Given the description of an element on the screen output the (x, y) to click on. 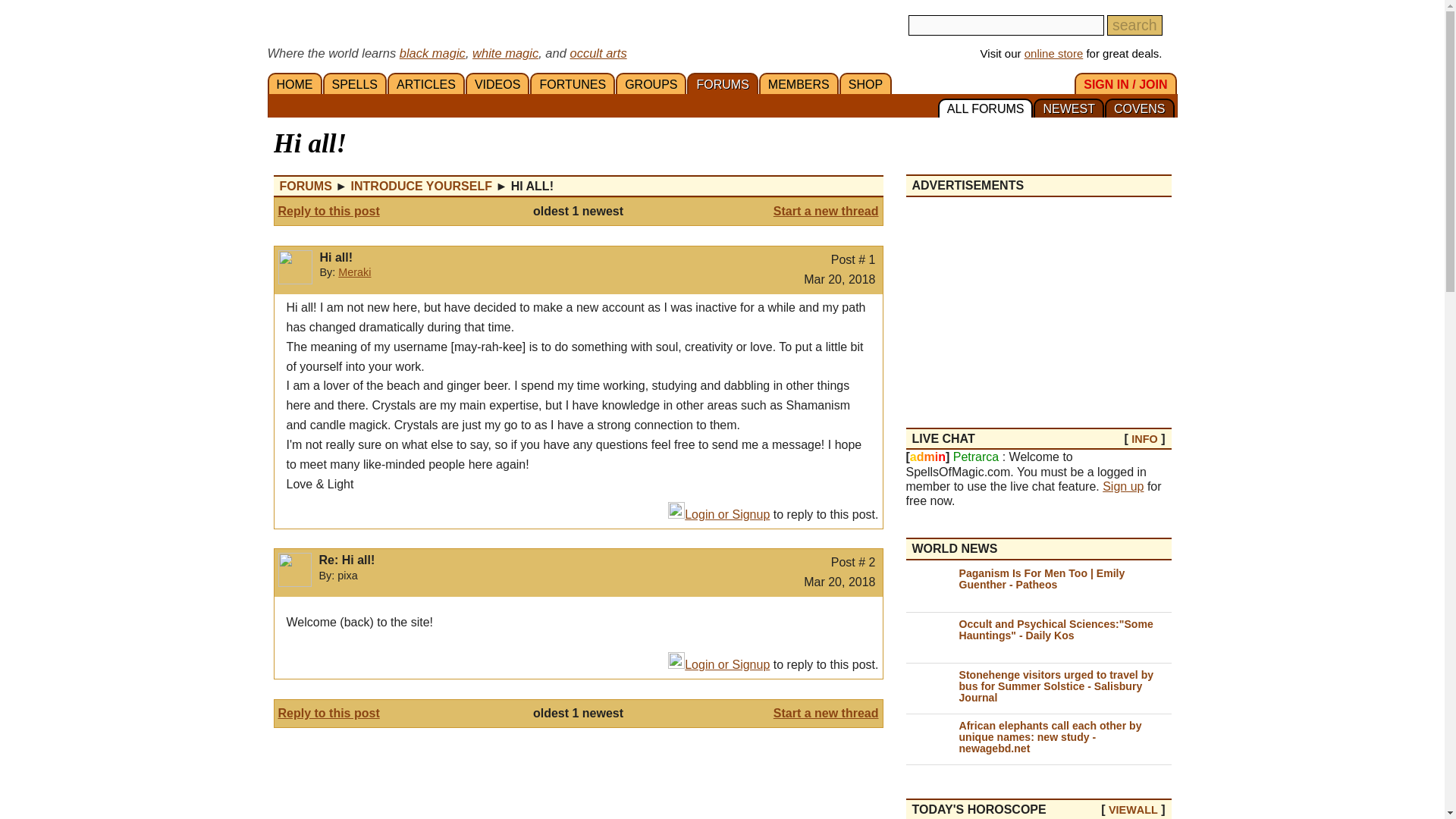
search (1133, 25)
black magic (431, 52)
white magic (504, 52)
HOME (293, 83)
occult arts (597, 52)
SPELLS (355, 83)
search (1133, 25)
online store (1054, 52)
